Given the description of an element on the screen output the (x, y) to click on. 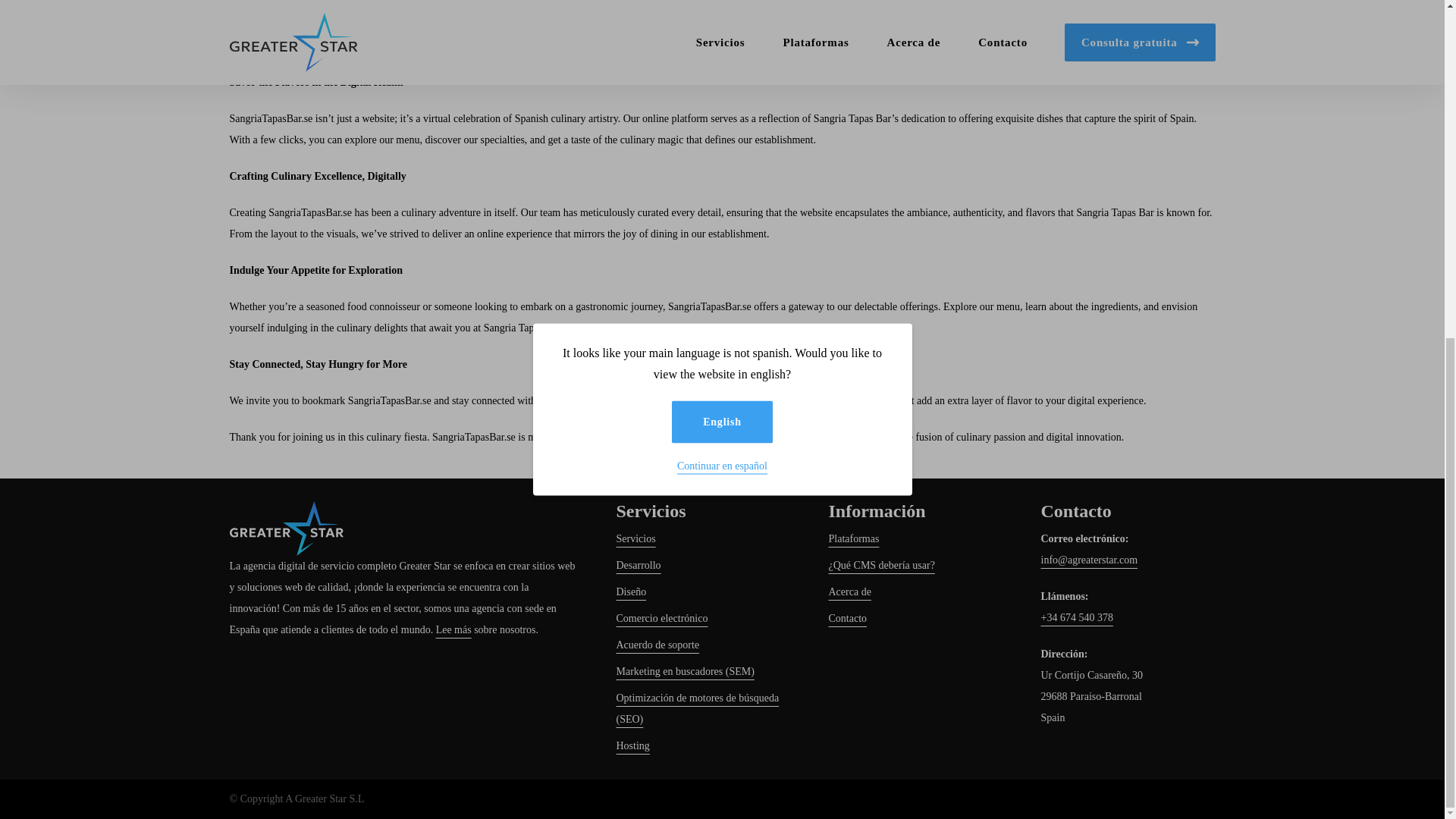
Servicios (635, 538)
